Given the description of an element on the screen output the (x, y) to click on. 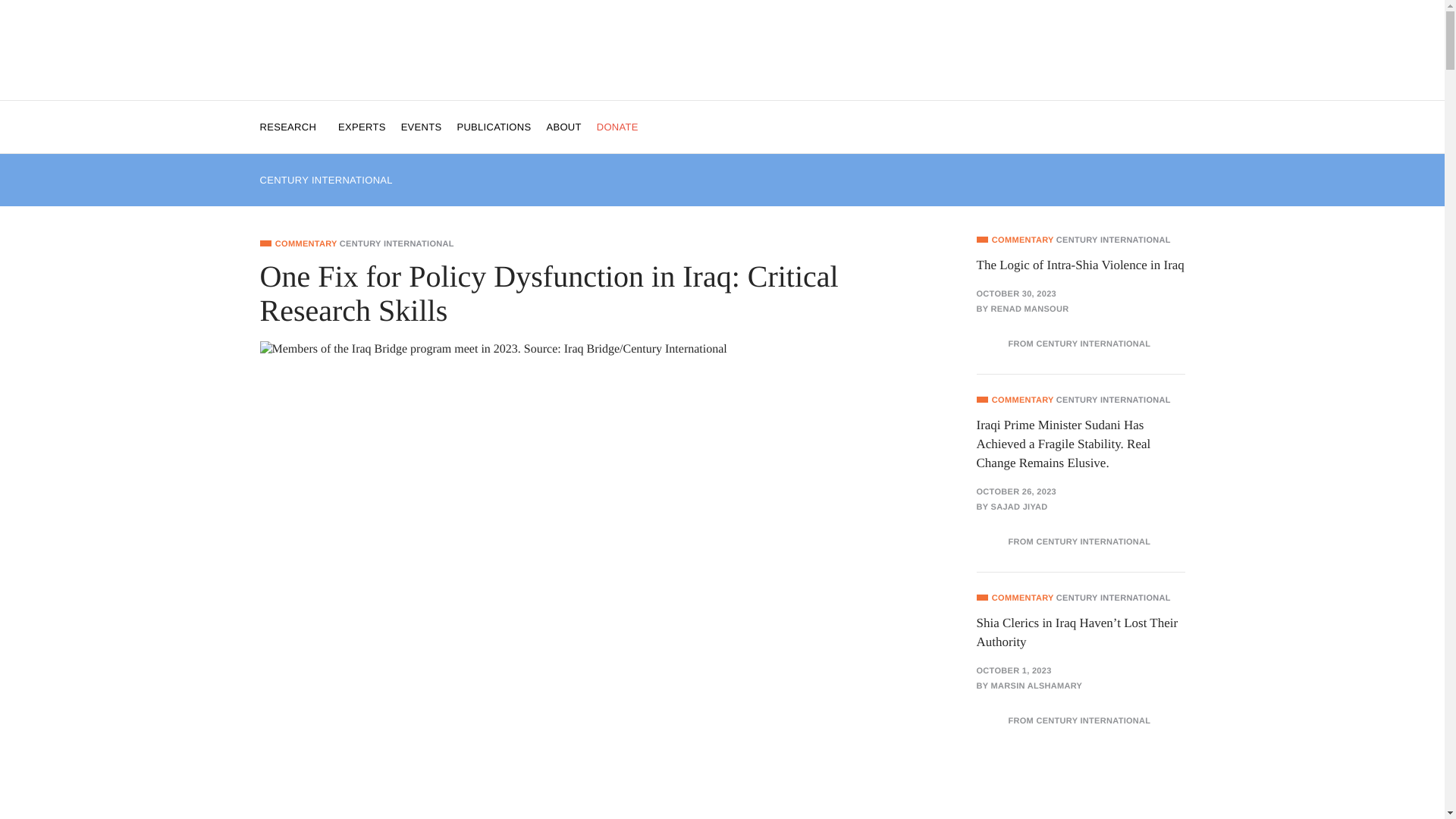
PUBLICATIONS (494, 126)
RESEARCH (291, 126)
The Century Foundation (722, 53)
EXPERTS (361, 126)
The Century Foundation (722, 50)
CENTURY INTERNATIONAL (325, 180)
Search (21, 7)
